Given the description of an element on the screen output the (x, y) to click on. 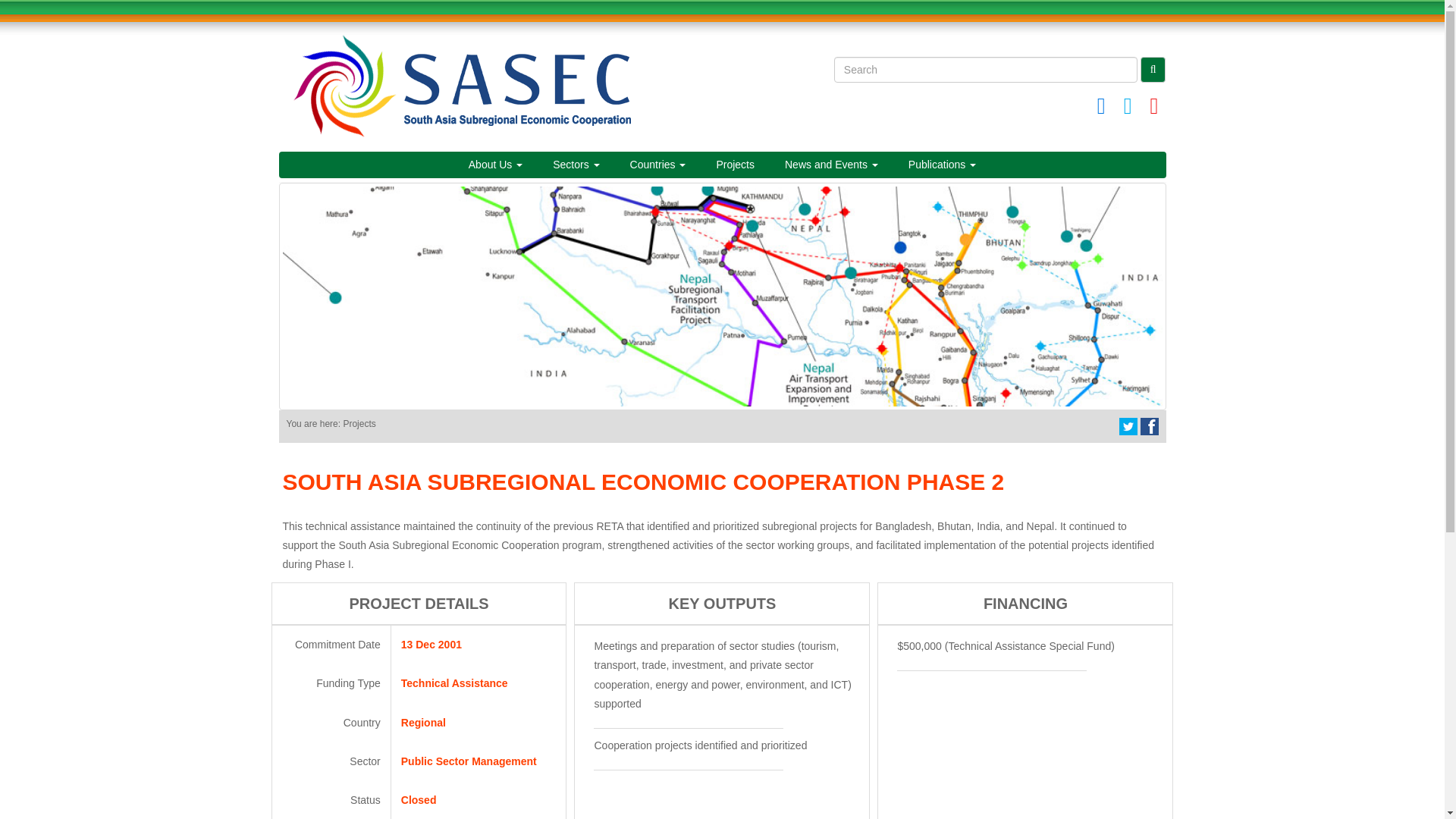
Countries (657, 164)
About Us (494, 164)
Sectors (575, 164)
